Given the description of an element on the screen output the (x, y) to click on. 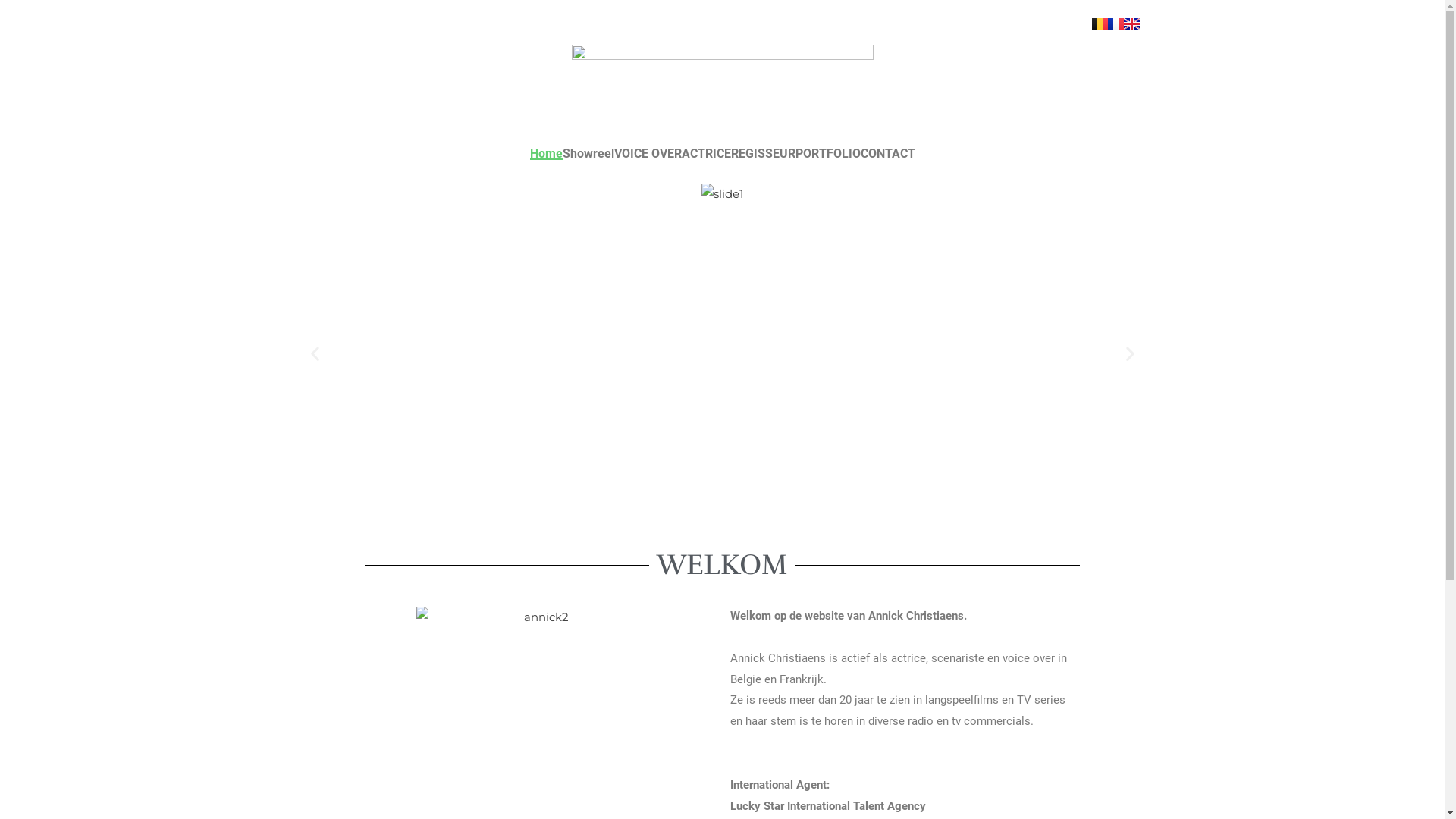
CONTACT Element type: text (886, 153)
ACTRICE Element type: text (705, 153)
annick2 Element type: hover (540, 616)
Home Element type: text (545, 153)
REGISSEUR Element type: text (763, 153)
VOICE OVER Element type: text (647, 153)
Showreel Element type: text (588, 153)
PORTFOLIO Element type: text (826, 153)
